Given the description of an element on the screen output the (x, y) to click on. 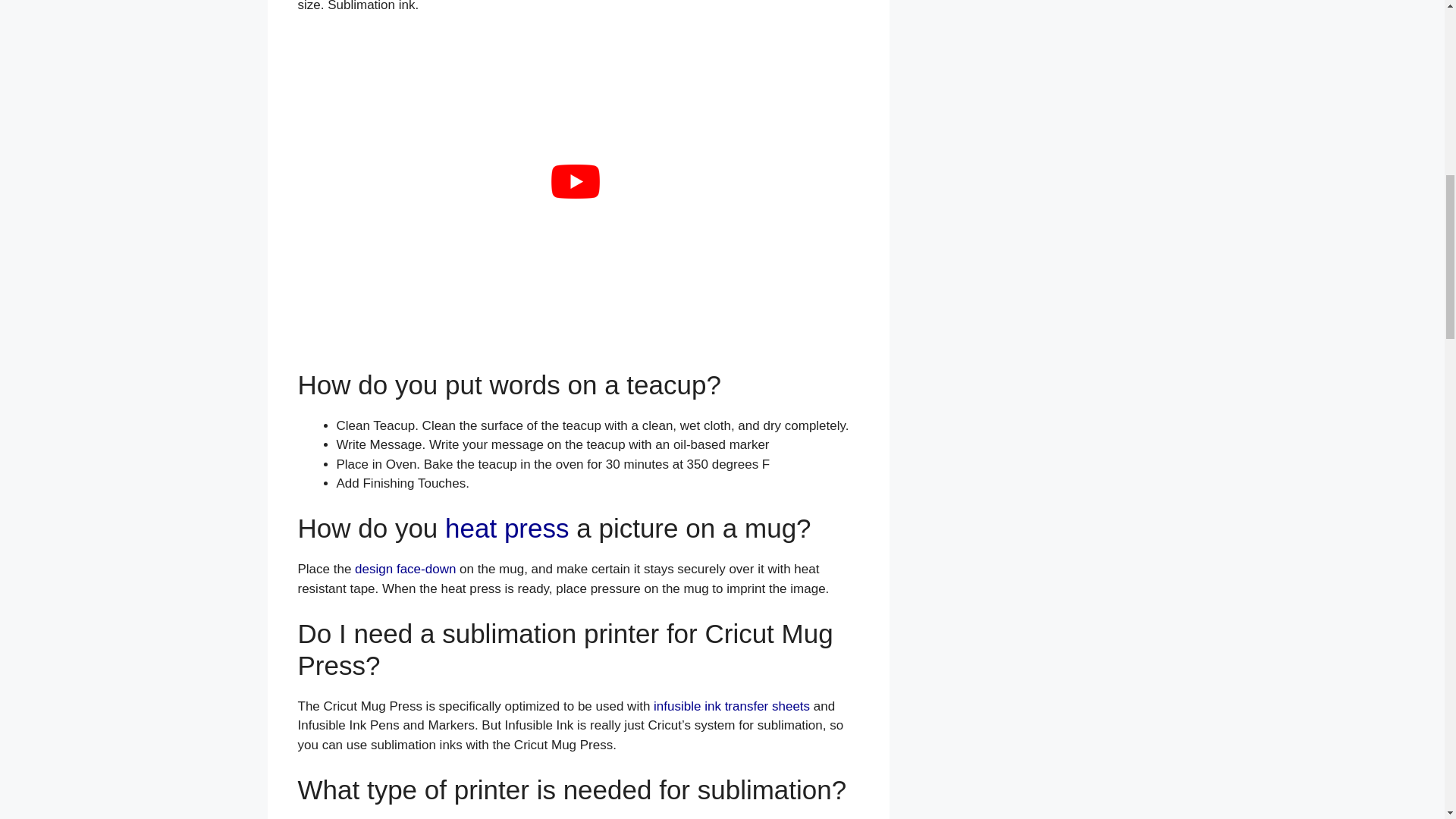
infusible ink transfer sheets (731, 706)
heat press (507, 527)
design face-down (405, 568)
